Given the description of an element on the screen output the (x, y) to click on. 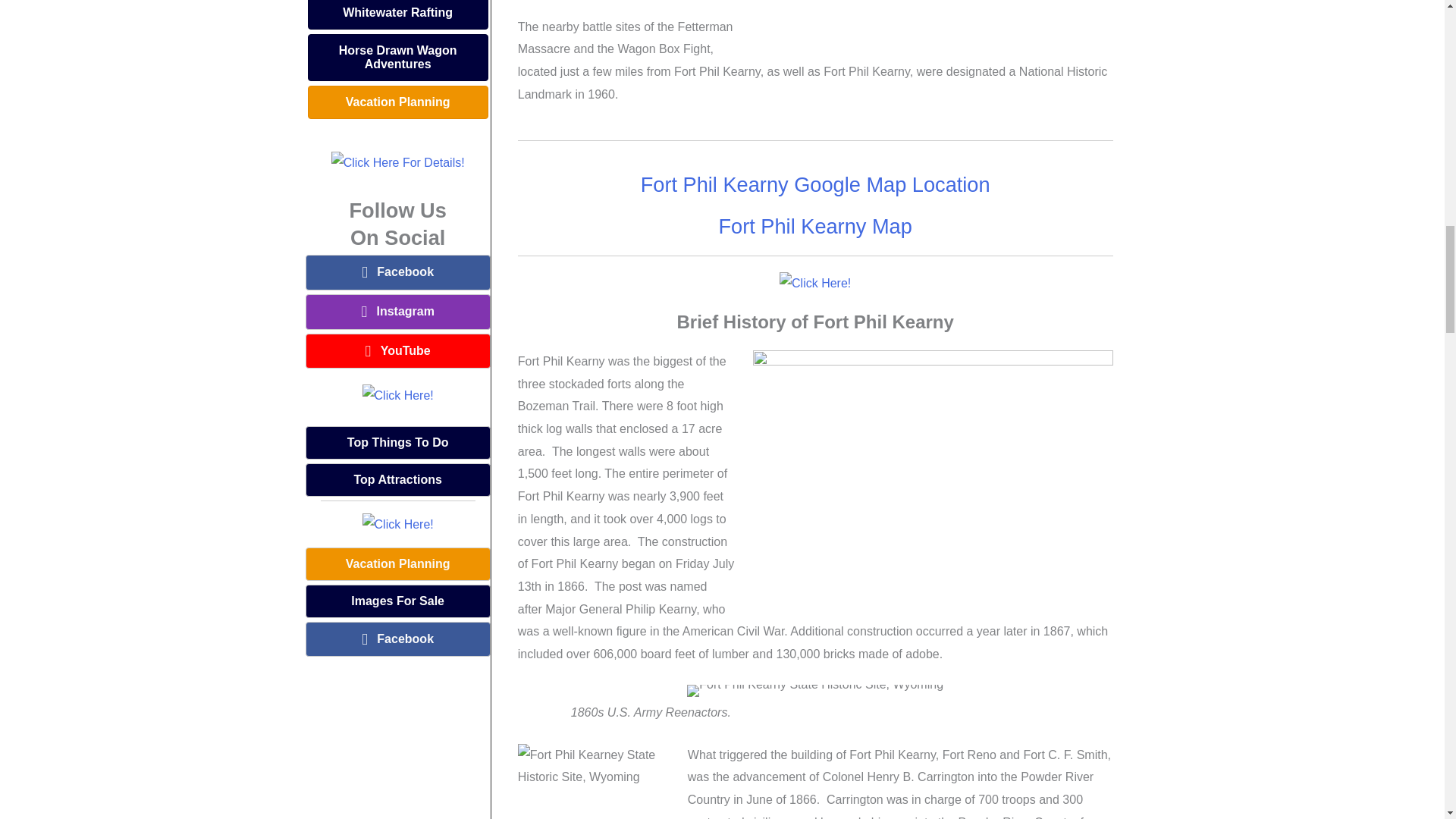
Click Here! (397, 524)
Fort Phil Kearny Map (814, 226)
Click Here For Details! (397, 162)
Fort Phil Kearny State Historic Site, Wyoming (815, 690)
Click Here! (814, 282)
Fort Phil Kearny Google Map Location (815, 184)
Click Here! (397, 395)
